Given the description of an element on the screen output the (x, y) to click on. 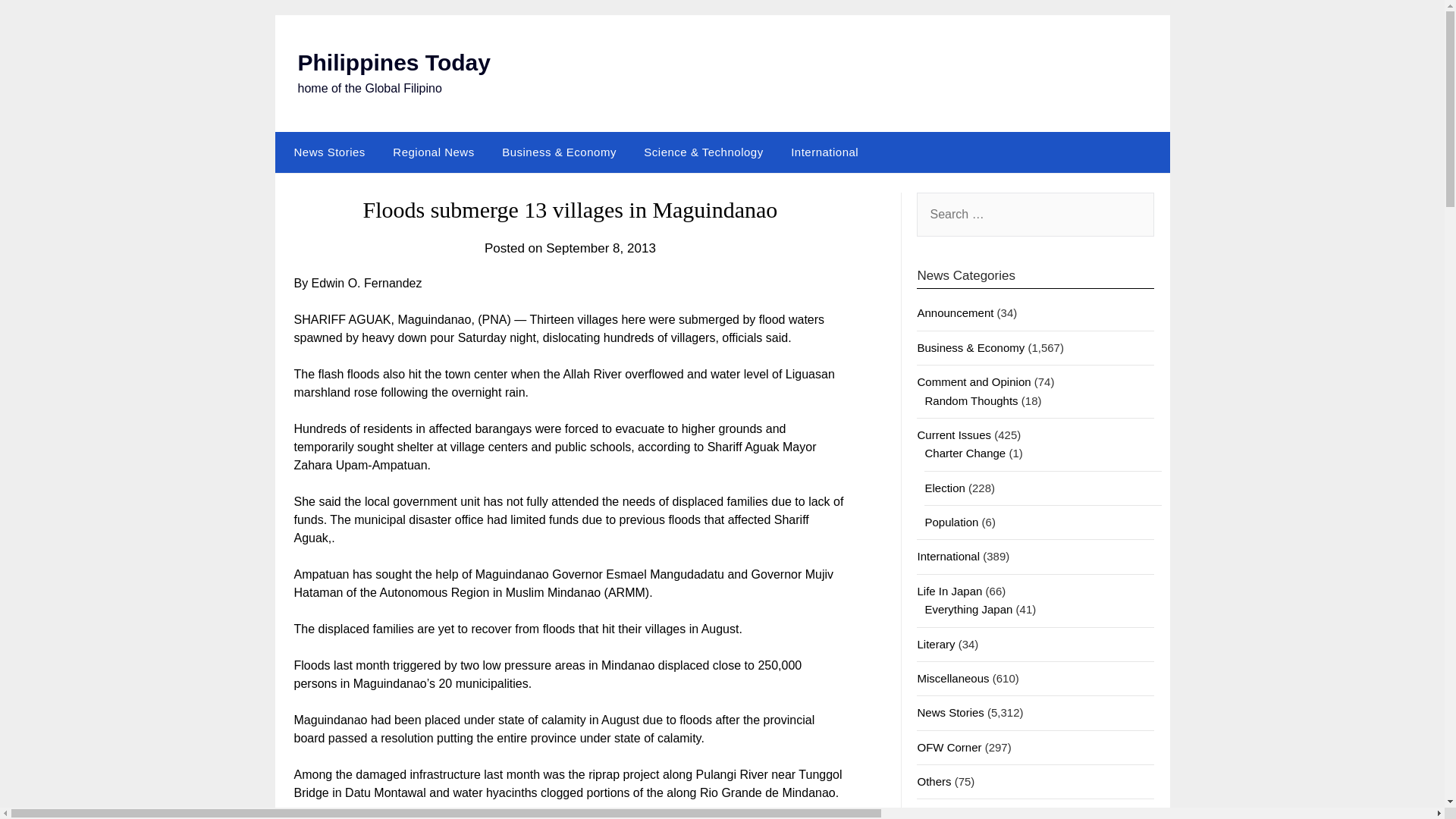
Others (933, 780)
Life In Japan (949, 590)
OFW Corner (949, 747)
People (934, 814)
Search (38, 22)
Regional News (433, 151)
News Stories (950, 712)
Literary (936, 644)
Charter Change (965, 452)
Random Thoughts (970, 400)
